Given the description of an element on the screen output the (x, y) to click on. 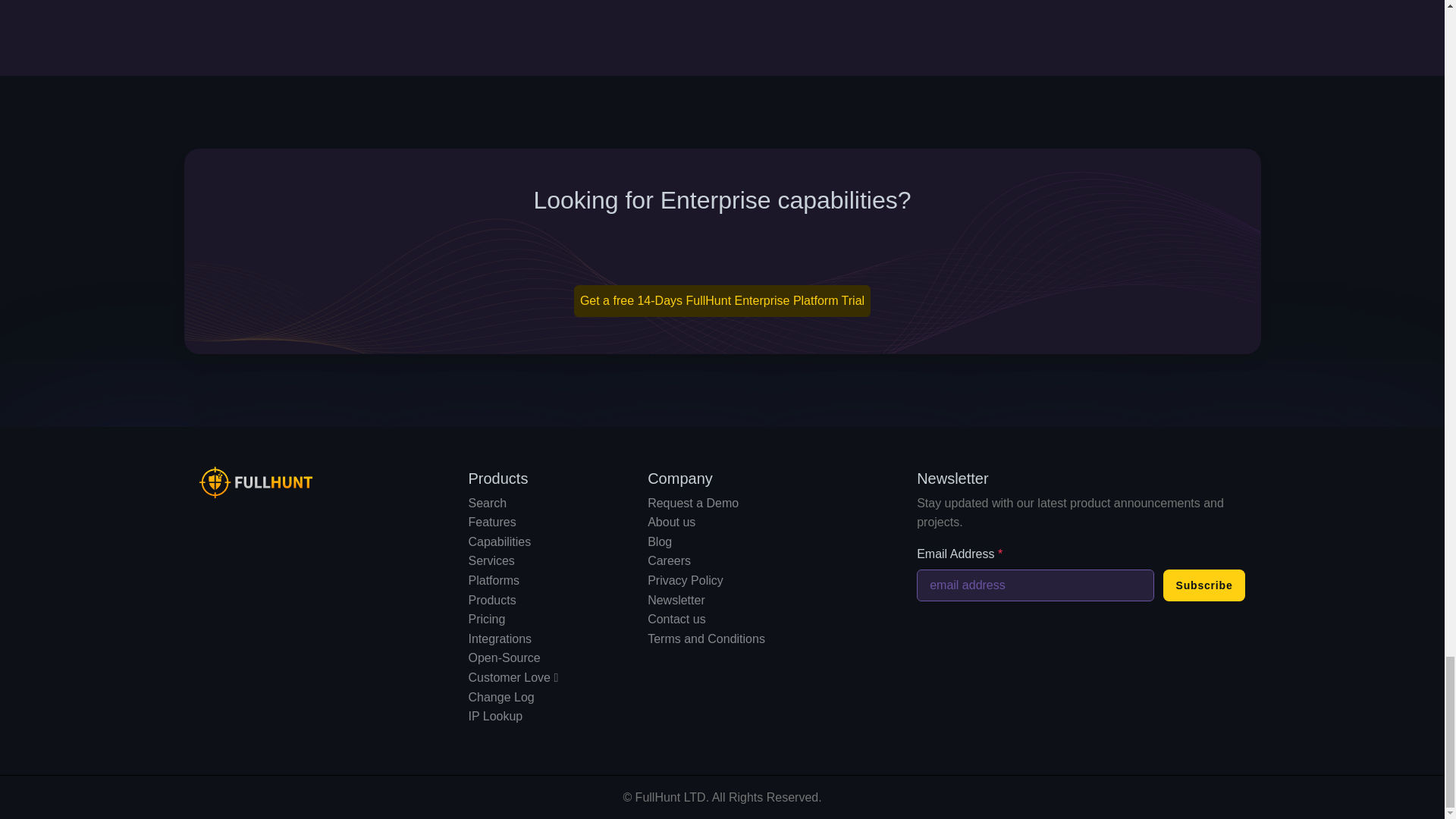
Search (487, 502)
Products (492, 599)
Capabilities (499, 541)
Integrations (500, 638)
Platforms (493, 580)
Services (491, 560)
Get a free 14-Days FullHunt Enterprise Platform Trial (721, 300)
Features (492, 521)
Subscribe (1204, 585)
Open-Source (504, 657)
Pricing (486, 618)
